Given the description of an element on the screen output the (x, y) to click on. 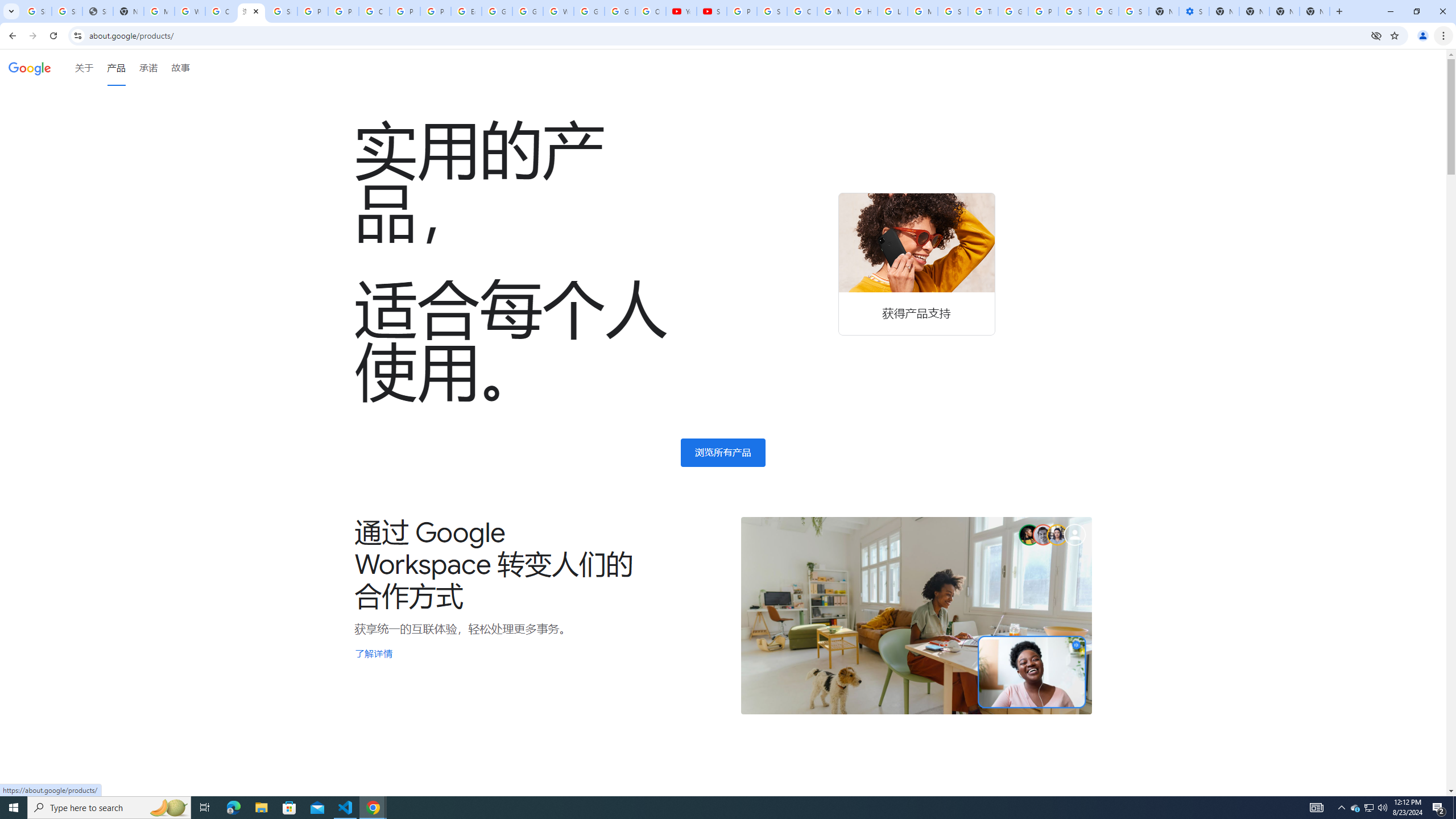
New Tab (1314, 11)
Who is my administrator? - Google Account Help (189, 11)
